Given the description of an element on the screen output the (x, y) to click on. 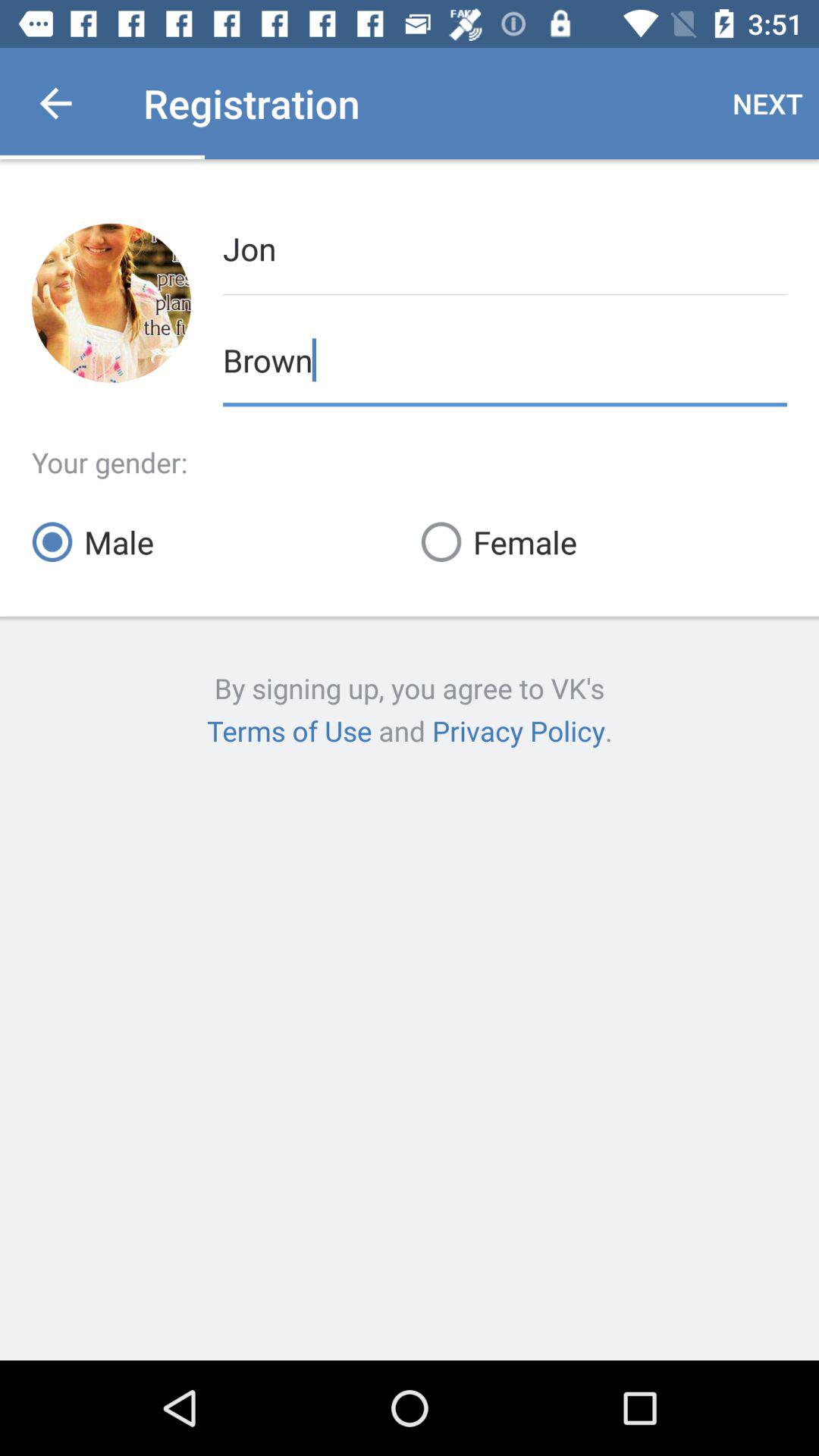
tap the icon above by signing up item (214, 541)
